Given the description of an element on the screen output the (x, y) to click on. 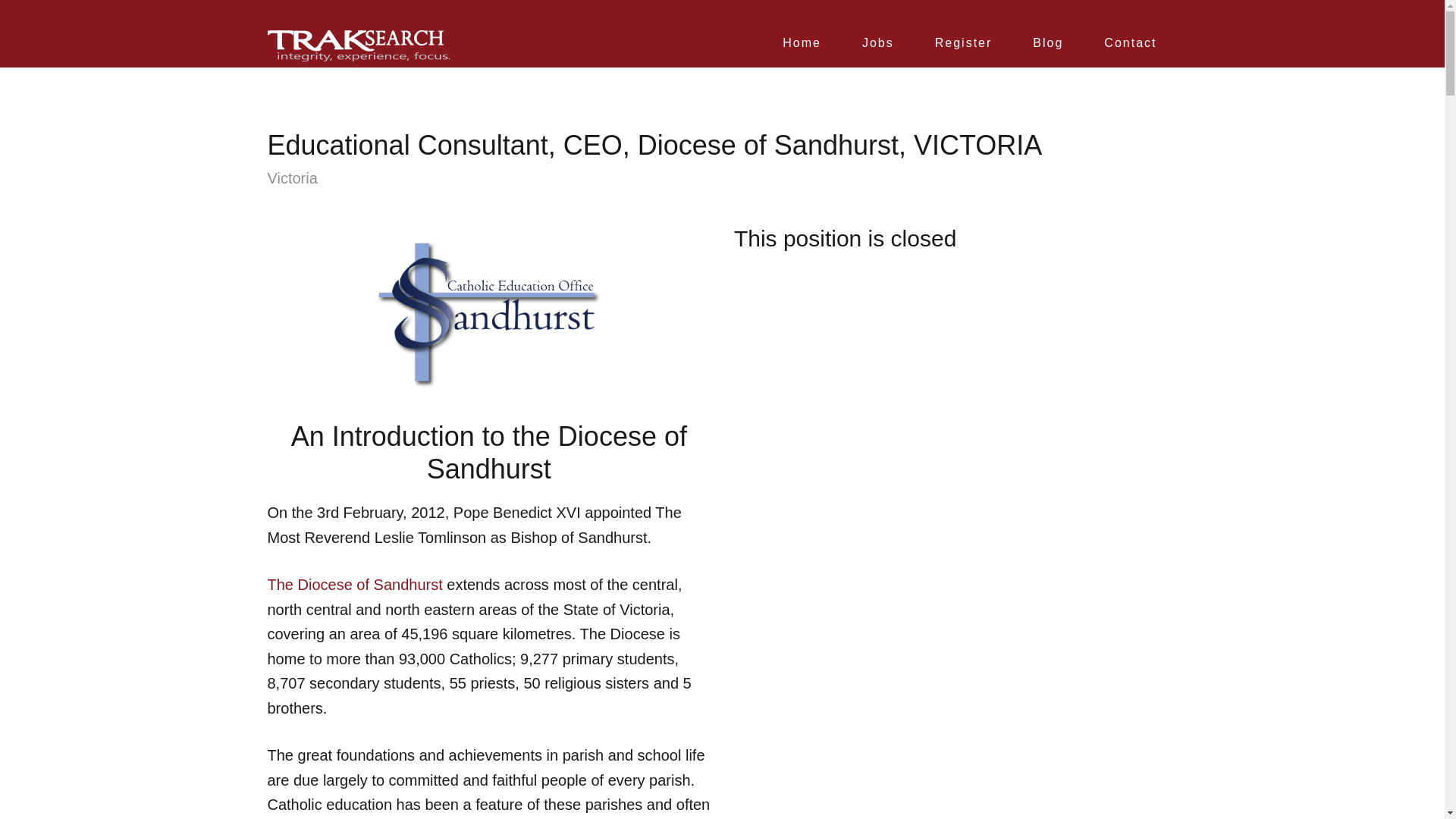
Trak Search (357, 45)
Home (801, 51)
Blog (1047, 51)
Contact (1129, 51)
Register (963, 51)
Jobs (877, 51)
The Diocese of Sandhurst (354, 584)
